Given the description of an element on the screen output the (x, y) to click on. 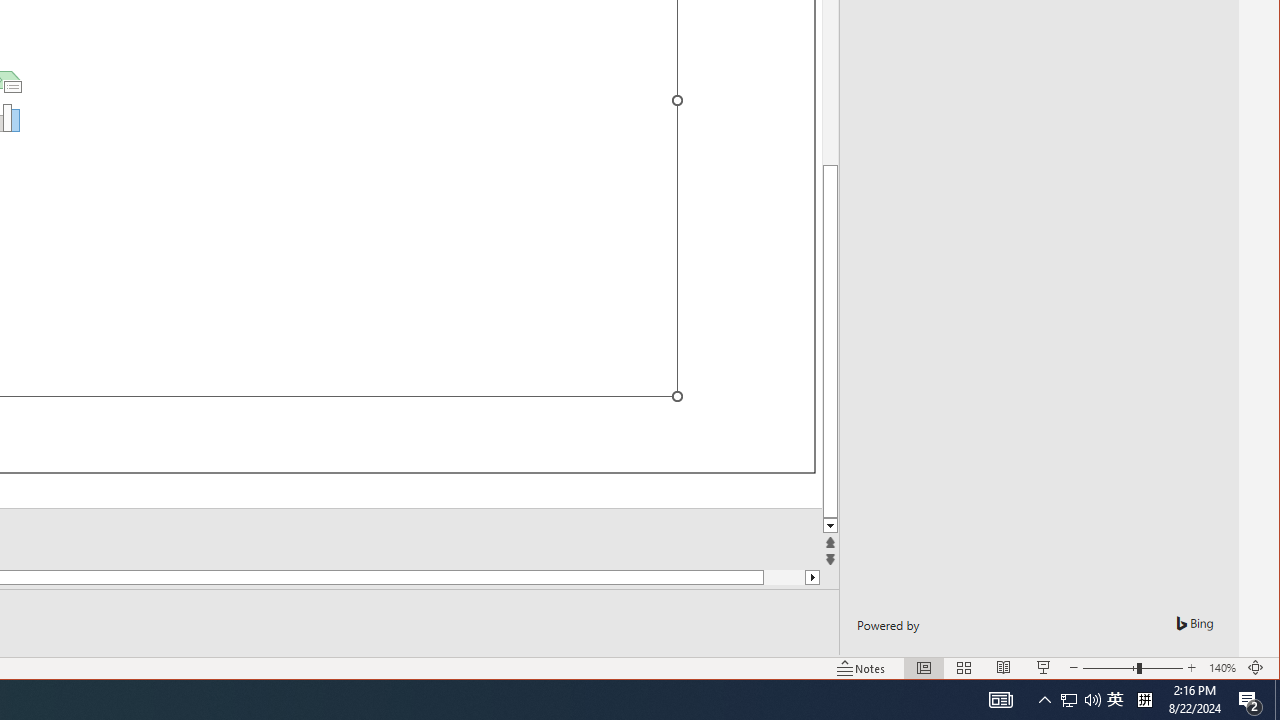
Zoom 140% (1222, 668)
